Given the description of an element on the screen output the (x, y) to click on. 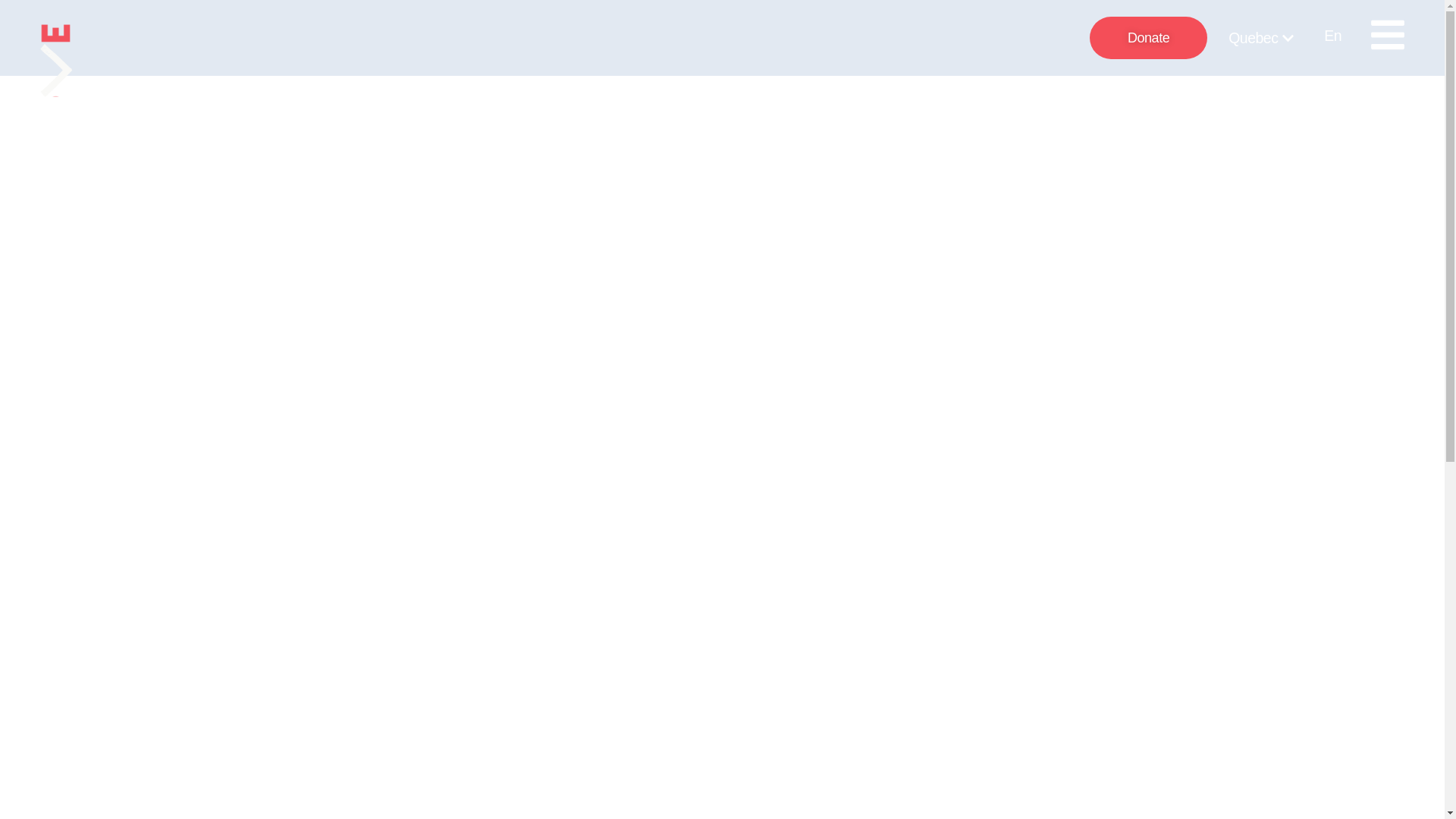
En (1332, 36)
Donate (1148, 37)
Quebec (1253, 37)
